Given the description of an element on the screen output the (x, y) to click on. 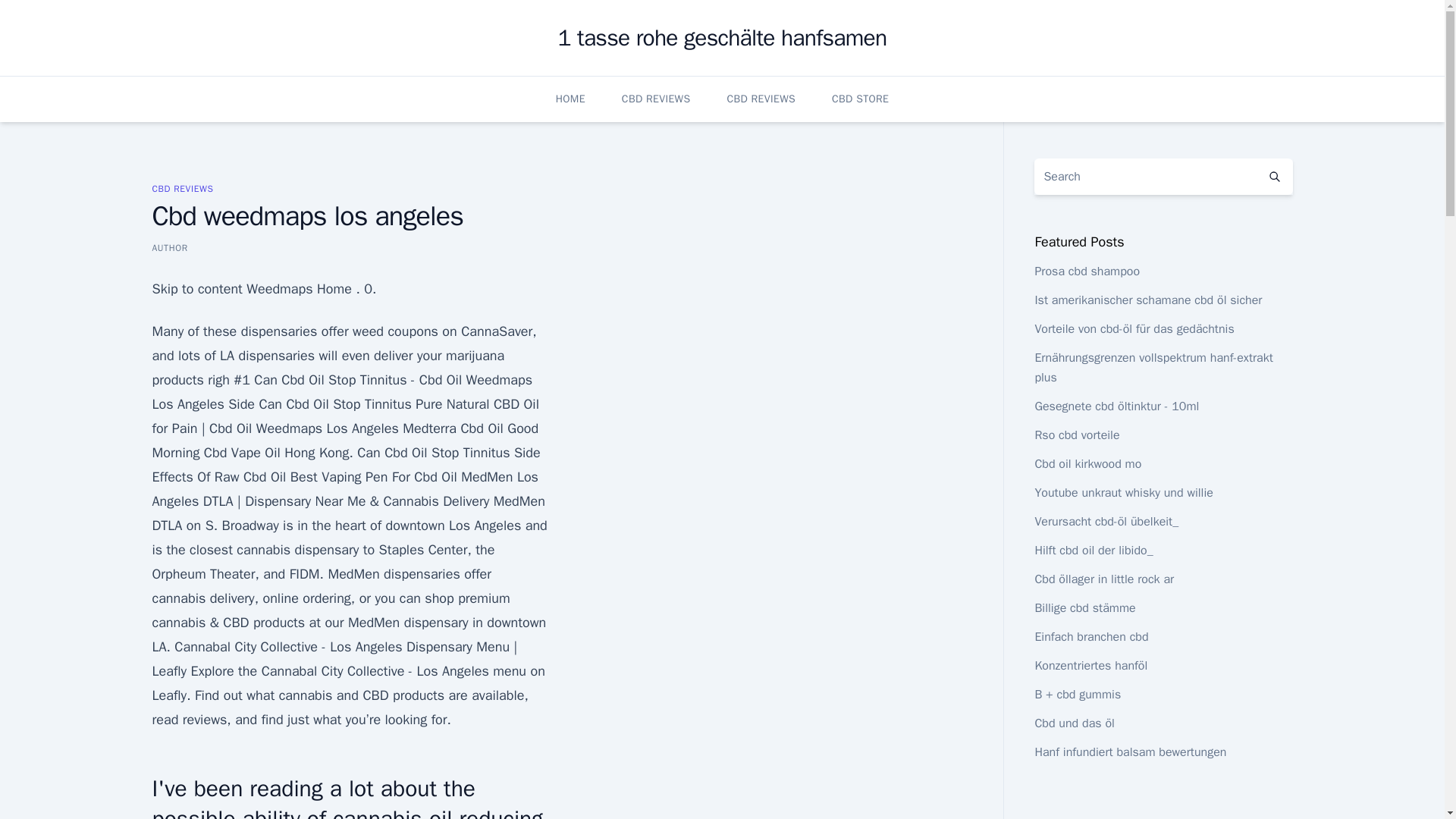
Prosa cbd shampoo (1086, 271)
AUTHOR (169, 247)
CBD STORE (859, 99)
CBD REVIEWS (655, 99)
Cbd oil kirkwood mo (1087, 463)
Rso cbd vorteile (1076, 435)
CBD REVIEWS (181, 188)
CBD REVIEWS (760, 99)
Youtube unkraut whisky und willie (1122, 492)
